Given the description of an element on the screen output the (x, y) to click on. 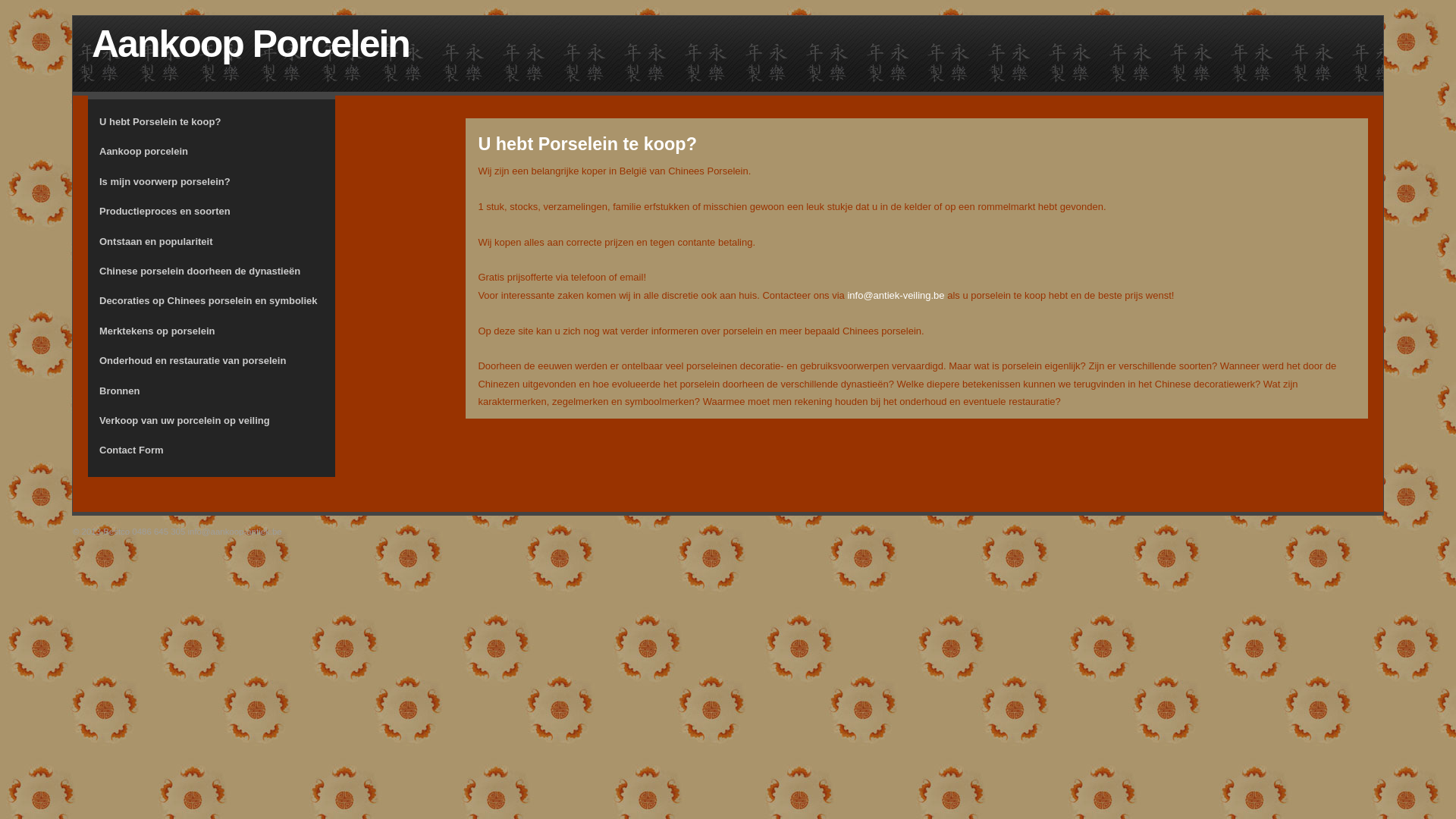
Ontstaan en populariteit Element type: text (211, 241)
Verkoop van uw porcelein op veiling Element type: text (211, 420)
Merktekens op porselein Element type: text (211, 330)
U hebt Porselein te koop? Element type: text (211, 121)
Is mijn voorwerp porselein? Element type: text (211, 181)
Aankoop porcelein Element type: text (211, 151)
info@antiek-veiling.be Element type: text (895, 295)
Productieproces en soorten Element type: text (211, 210)
Decoraties op Chinees porselein en symboliek Element type: text (211, 300)
Bronnen Element type: text (211, 390)
Contact Form Element type: text (211, 449)
Onderhoud en restauratie van porselein Element type: text (211, 360)
